Given the description of an element on the screen output the (x, y) to click on. 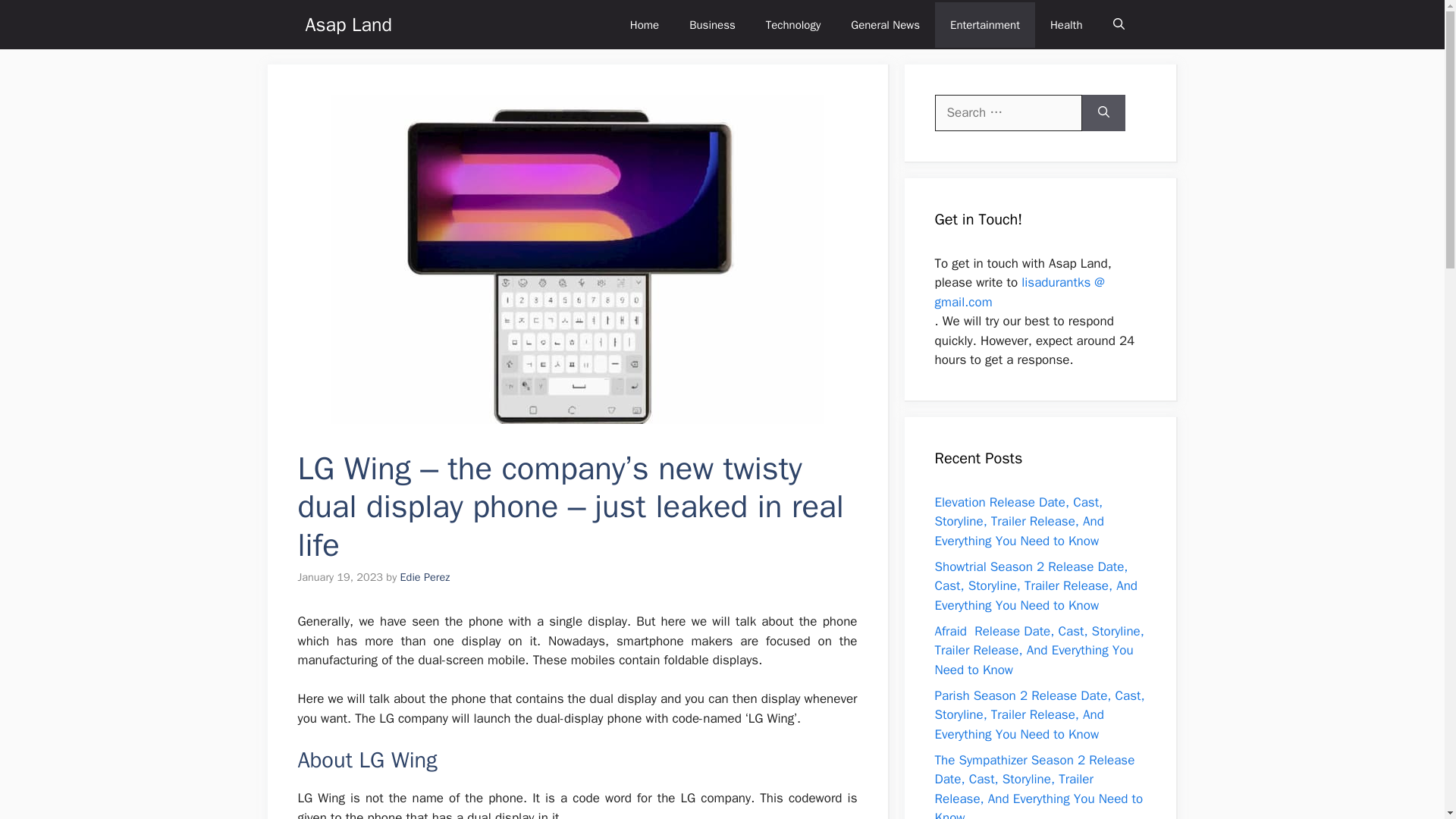
Search for: (1007, 113)
View all posts by Edie Perez (424, 576)
Edie Perez (424, 576)
General News (884, 23)
Health (1066, 23)
Technology (793, 23)
Asap Land (347, 24)
